Given the description of an element on the screen output the (x, y) to click on. 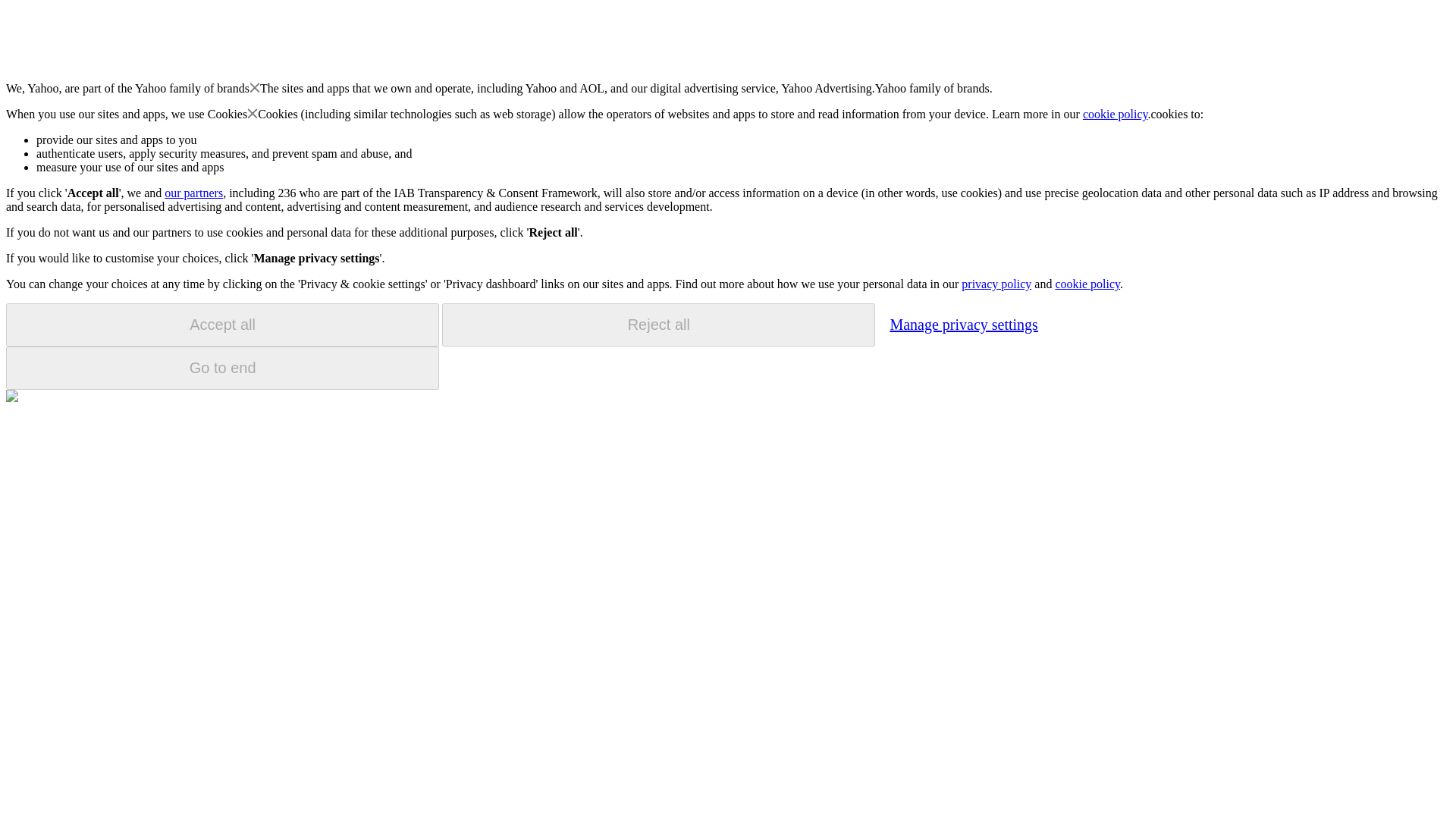
Go to end (222, 367)
Accept all (222, 324)
Reject all (658, 324)
cookie policy (1115, 113)
cookie policy (1086, 283)
privacy policy (995, 283)
our partners (193, 192)
Manage privacy settings (963, 323)
